Given the description of an element on the screen output the (x, y) to click on. 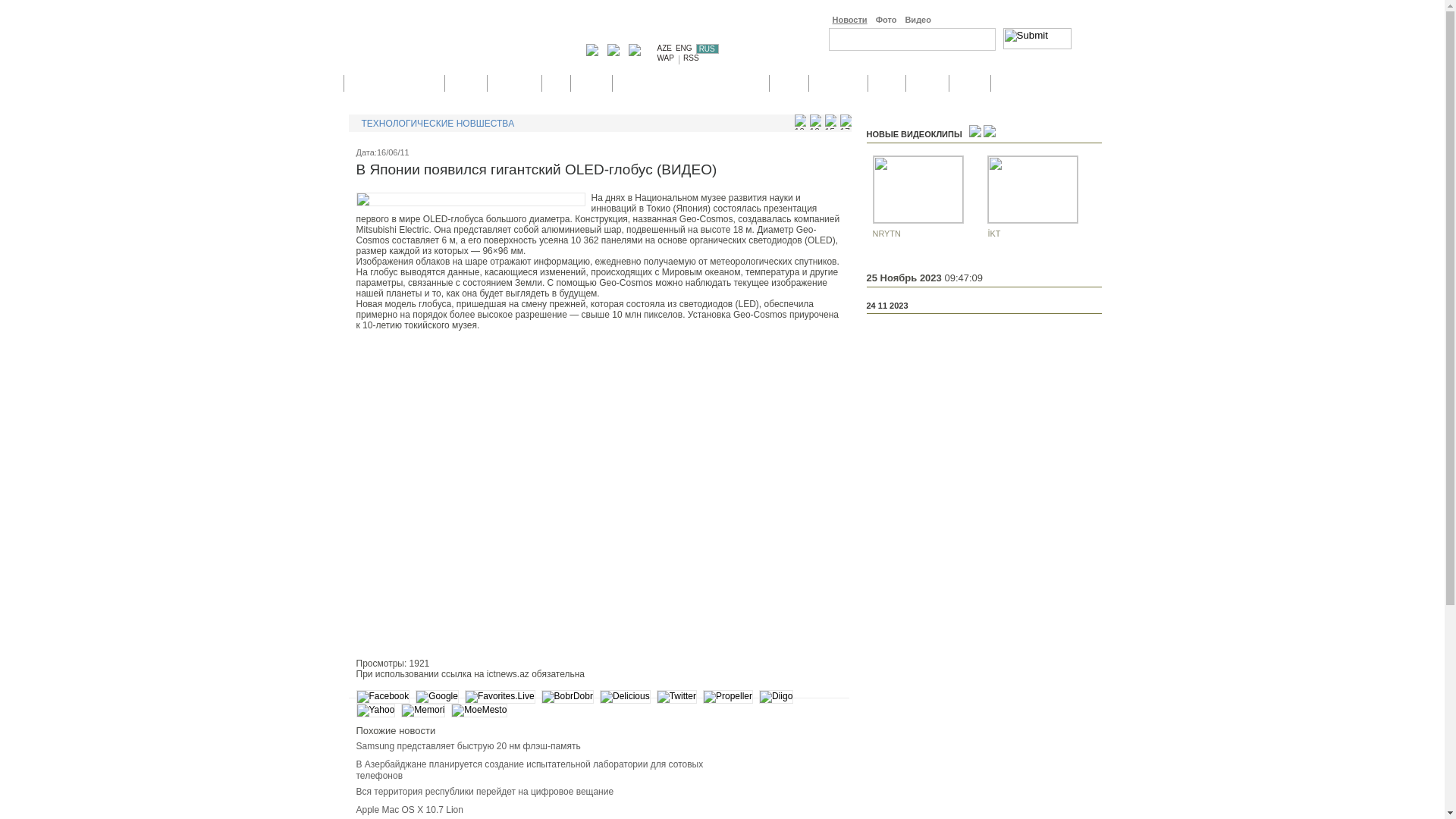
Apple Mac OS X 10.7 Lion Element type: text (409, 809)
AZE Element type: text (663, 47)
ENG Element type: text (683, 47)
RSS Element type: text (691, 57)
WAP Element type: text (664, 57)
RUS Element type: text (707, 48)
